Given the description of an element on the screen output the (x, y) to click on. 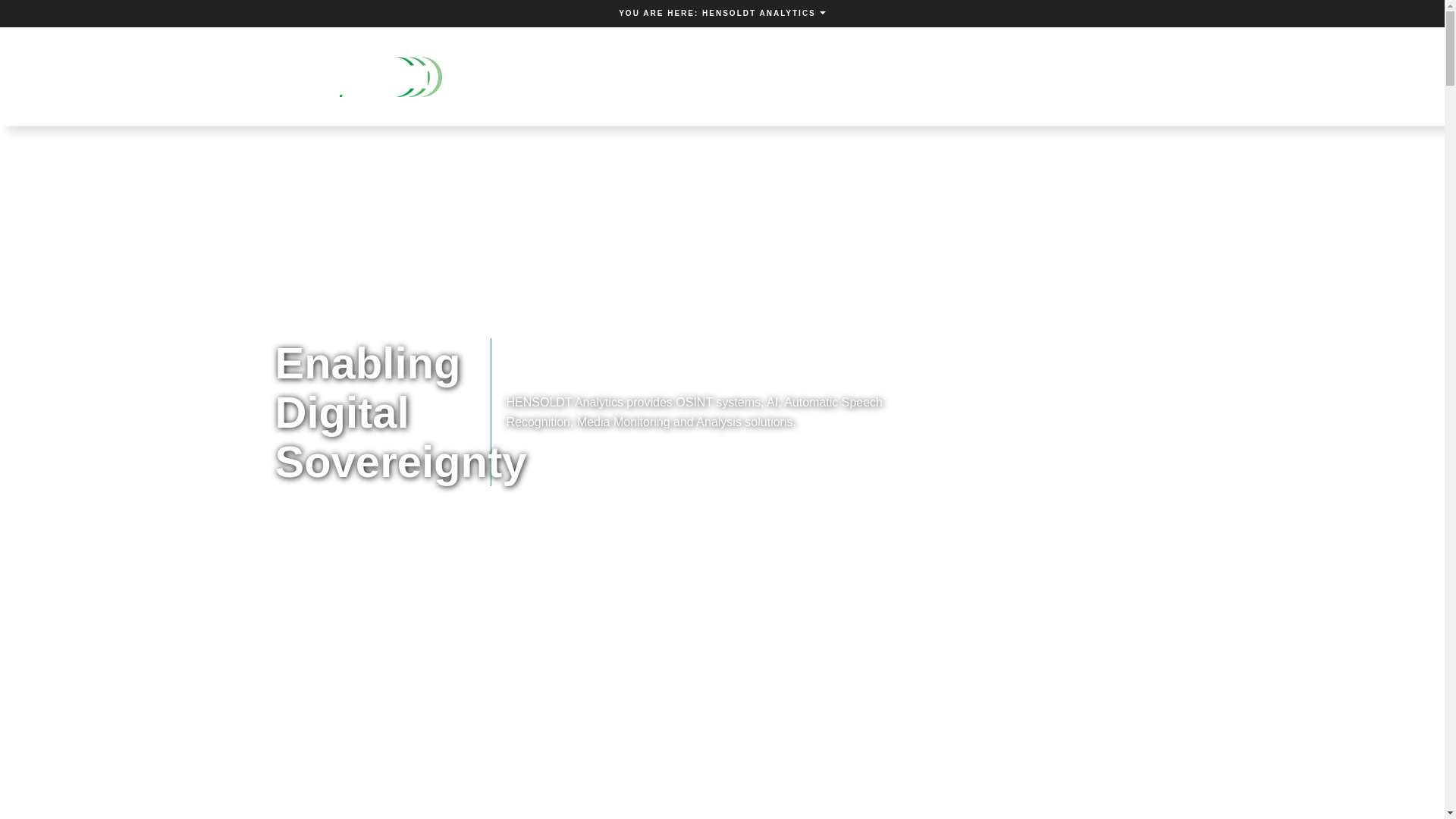
News and Research (556, 76)
CUSTOMERS AND PARTNERS (1030, 76)
Customers and Partners (1030, 76)
NEWS AND RESEARCH (556, 76)
